Given the description of an element on the screen output the (x, y) to click on. 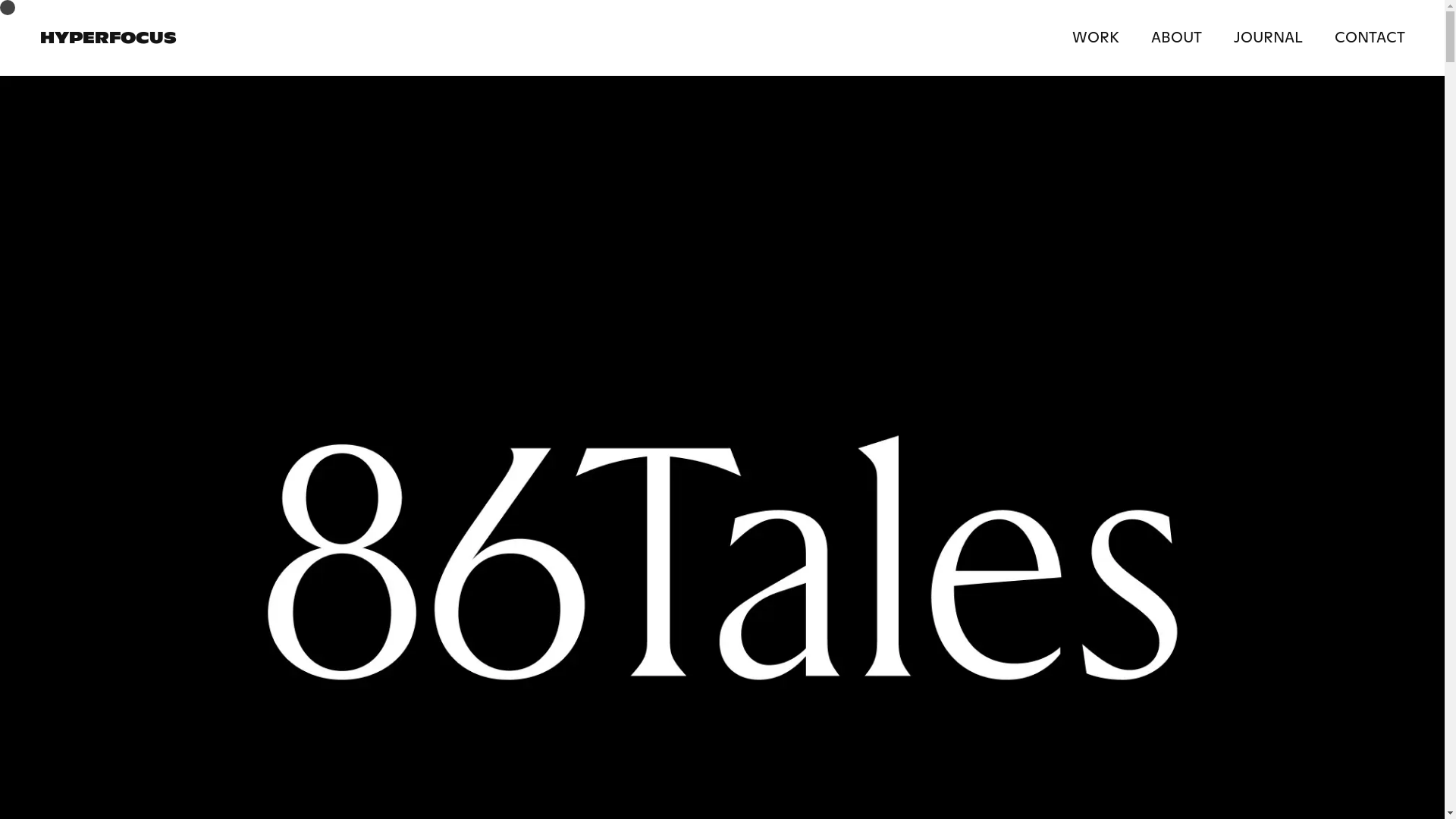
CONTACT Element type: text (1360, 37)
ABOUT Element type: text (1175, 37)
JOURNAL Element type: text (1267, 37)
HYPERFOCUS Element type: text (107, 37)
WORK Element type: text (1103, 37)
